Given the description of an element on the screen output the (x, y) to click on. 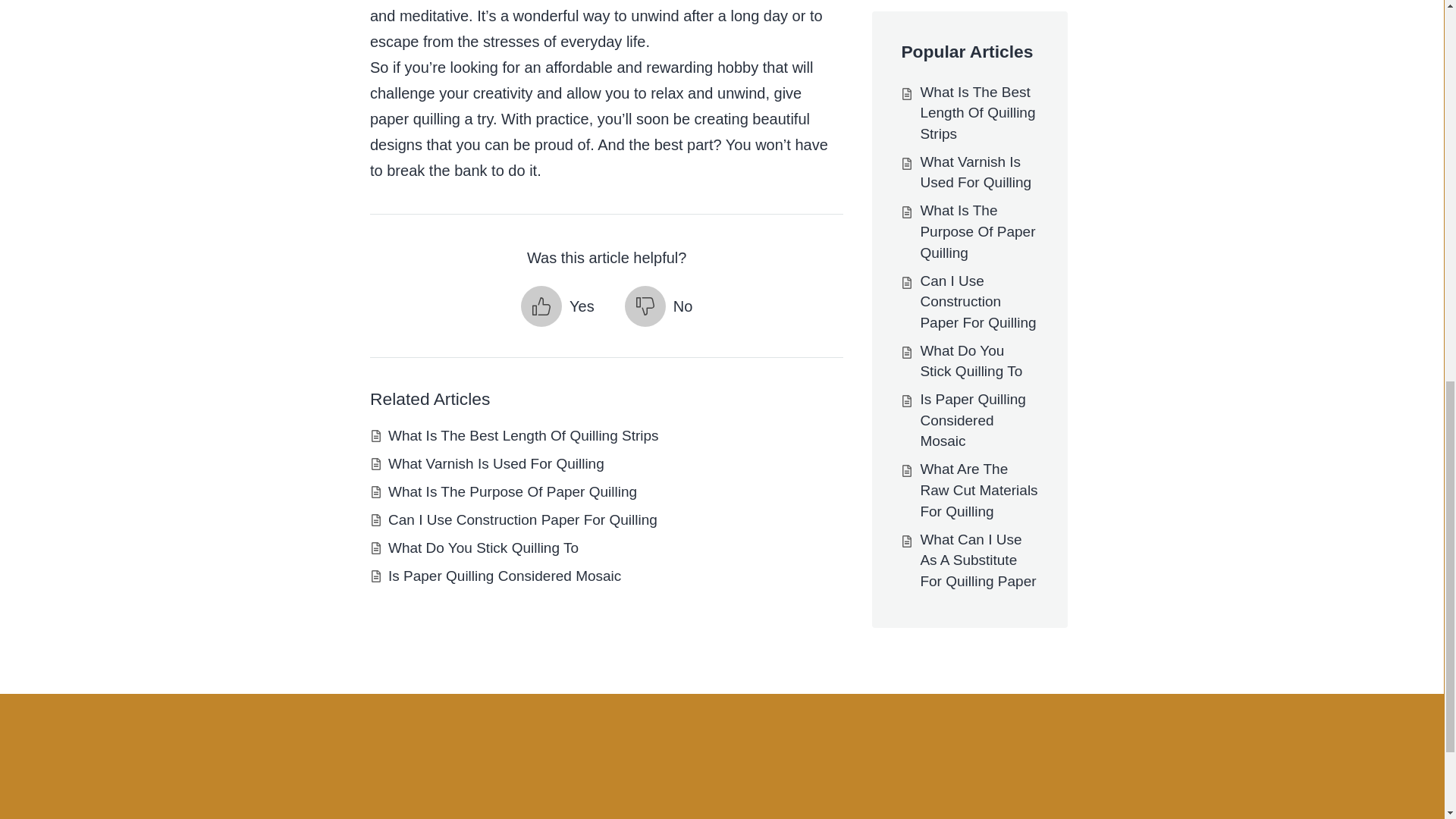
What Is The Best Length Of Quilling Strips (523, 435)
What Varnish Is Used For Quilling (496, 463)
What Can I Use As A Substitute For Quilling Paper (977, 50)
Is Paper Quilling Considered Mosaic (504, 575)
What Do You Stick Quilling To (483, 547)
What Are The Raw Cut Materials For Quilling (978, 4)
What Is The Purpose Of Paper Quilling (512, 491)
No (658, 305)
Can I Use Construction Paper For Quilling (523, 519)
Yes (557, 305)
